Given the description of an element on the screen output the (x, y) to click on. 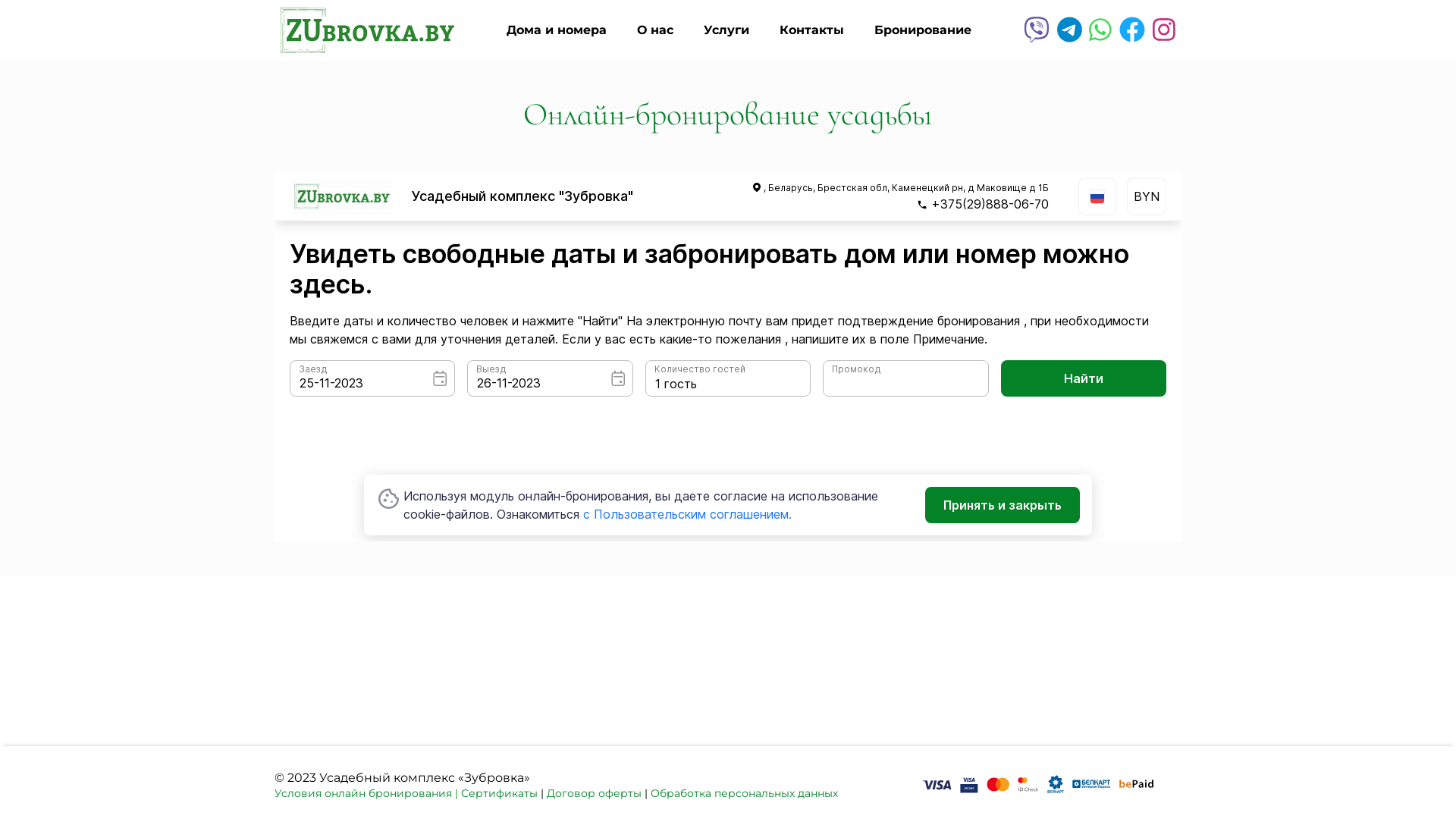
| Element type: text (456, 793)
